Given the description of an element on the screen output the (x, y) to click on. 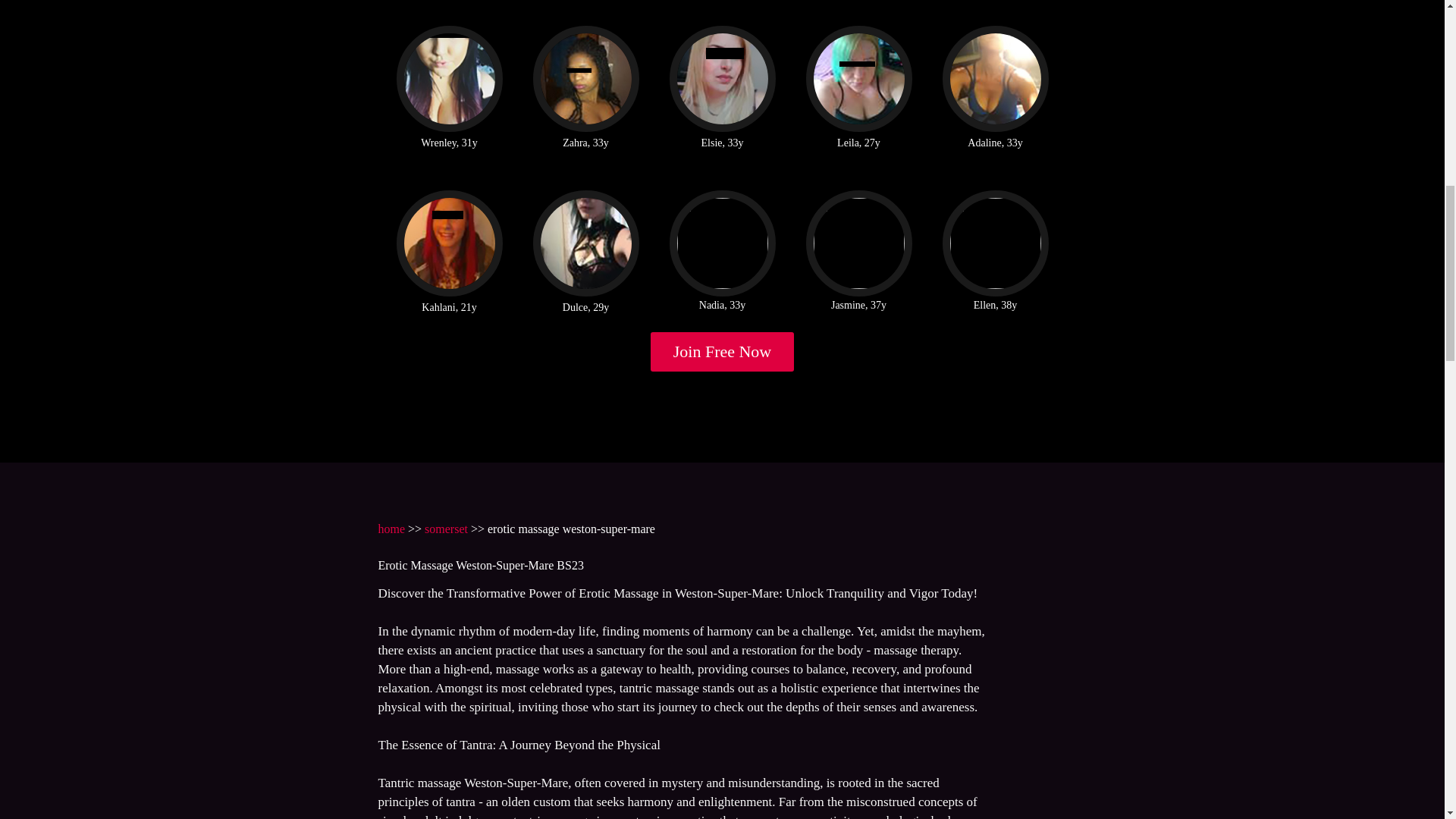
somerset (446, 528)
home (390, 528)
Join (722, 351)
Join Free Now (722, 351)
